Given the description of an element on the screen output the (x, y) to click on. 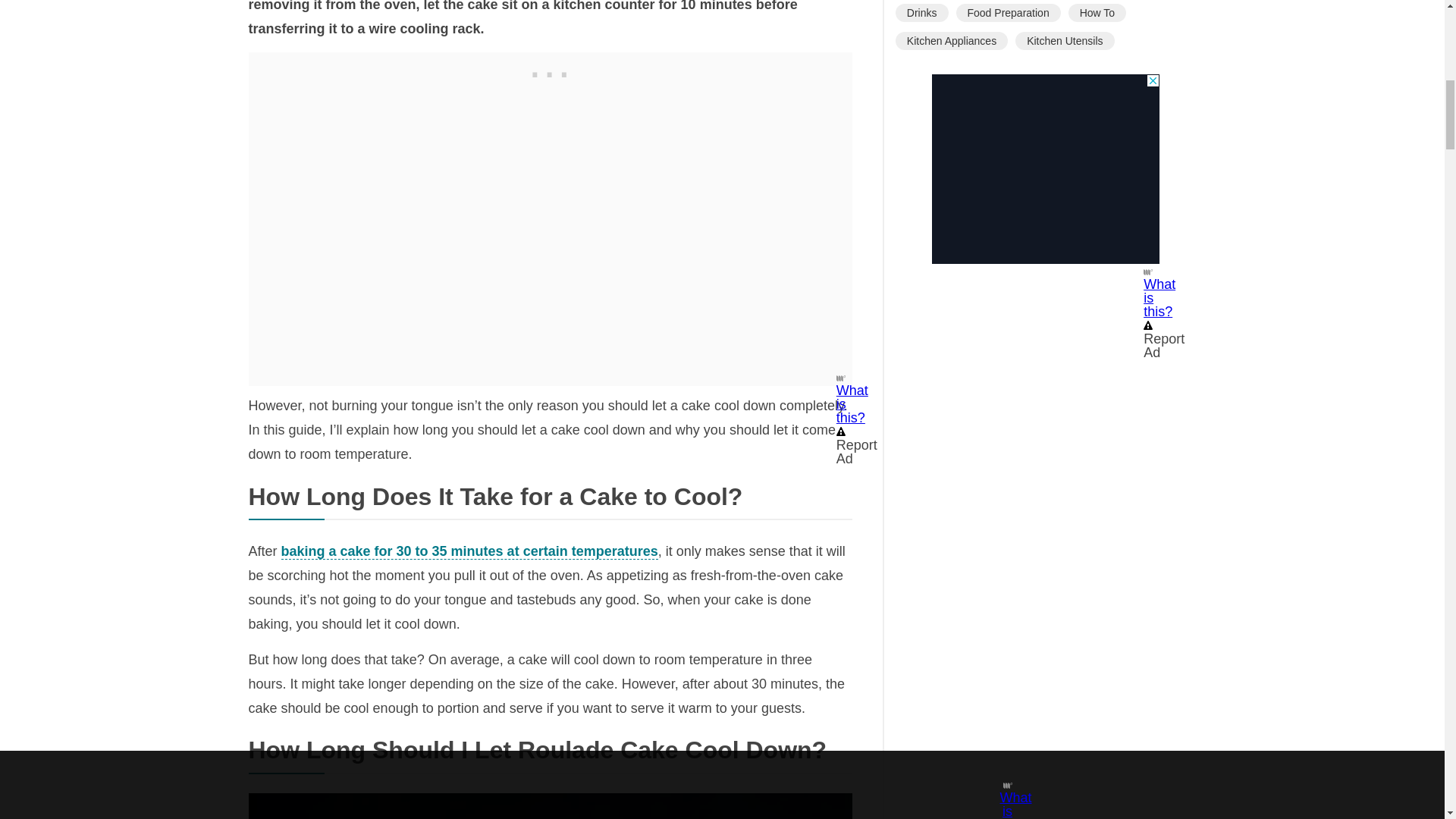
3rd party ad content (1044, 168)
baking a cake for 30 to 35 minutes at certain temperatures (469, 551)
3rd party ad content (550, 71)
